Given the description of an element on the screen output the (x, y) to click on. 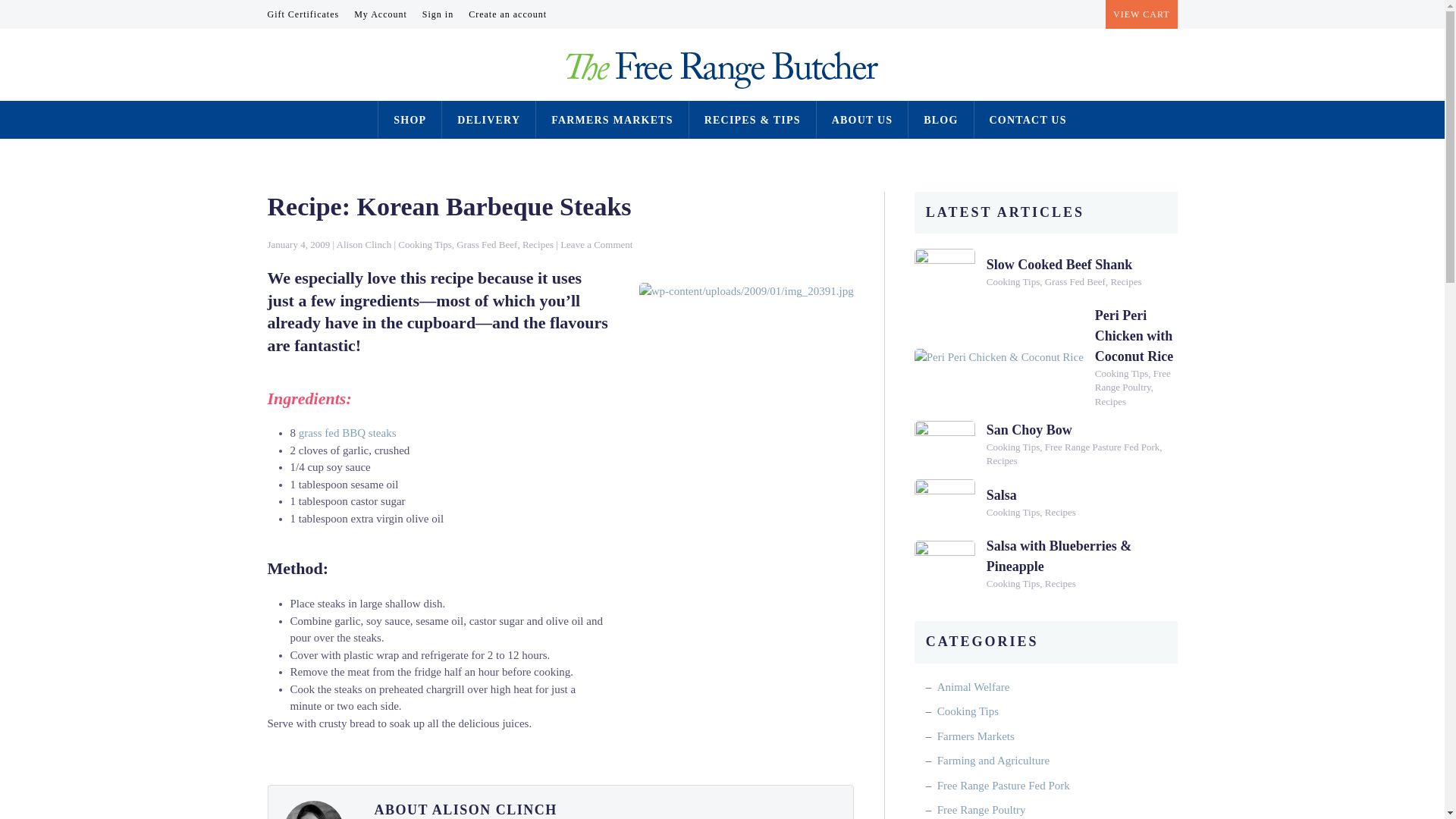
My Account Element type: text (380, 14)
ABOUT US Element type: text (862, 119)
Recipes Element type: text (1060, 583)
Grass Fed Beef Element type: text (486, 244)
grass fed BBQ steaks Element type: text (347, 432)
FARMERS MARKETS Element type: text (611, 119)
Cooking Tips Element type: text (1121, 373)
Salsa with Blueberries & Pineapple Element type: text (1059, 556)
Free Range Poultry Element type: text (1132, 379)
Gift Certificates Element type: text (302, 14)
Leave a Comment Element type: text (596, 244)
Cooking Tips Element type: text (424, 244)
Sign in Element type: text (437, 14)
Free Range Pasture Fed Pork Element type: text (1102, 446)
SHOP Element type: text (409, 119)
Cooking Tips Element type: text (1012, 511)
Cooking Tips Element type: text (1012, 281)
Salsa Element type: text (1001, 494)
San Choy Bow Element type: text (1029, 429)
Slow Cooked Beef Shank Element type: text (1059, 264)
Recipes Element type: text (1110, 401)
BLOG Element type: text (940, 119)
Recipes Element type: text (1125, 281)
Recipes Element type: text (1060, 511)
Farmers Markets Element type: text (975, 735)
Grass Fed Beef Element type: text (1074, 281)
RECIPES & TIPS Element type: text (752, 119)
CONTACT US Element type: text (1027, 119)
Free Range Pasture Fed Pork Element type: text (1003, 785)
Cooking Tips Element type: text (967, 711)
Create an account Element type: text (507, 14)
Recipes Element type: text (1001, 460)
Cooking Tips Element type: text (1012, 446)
DELIVERY Element type: text (488, 119)
Animal Welfare Element type: text (973, 686)
VIEW CART Element type: text (1140, 14)
Alison Clinch Element type: text (364, 244)
Free Range Poultry Element type: text (981, 809)
Farming and Agriculture Element type: text (993, 760)
Recipes Element type: text (537, 244)
Cooking Tips Element type: text (1012, 583)
Peri Peri Chicken with Coconut Rice Element type: text (1134, 335)
